Given the description of an element on the screen output the (x, y) to click on. 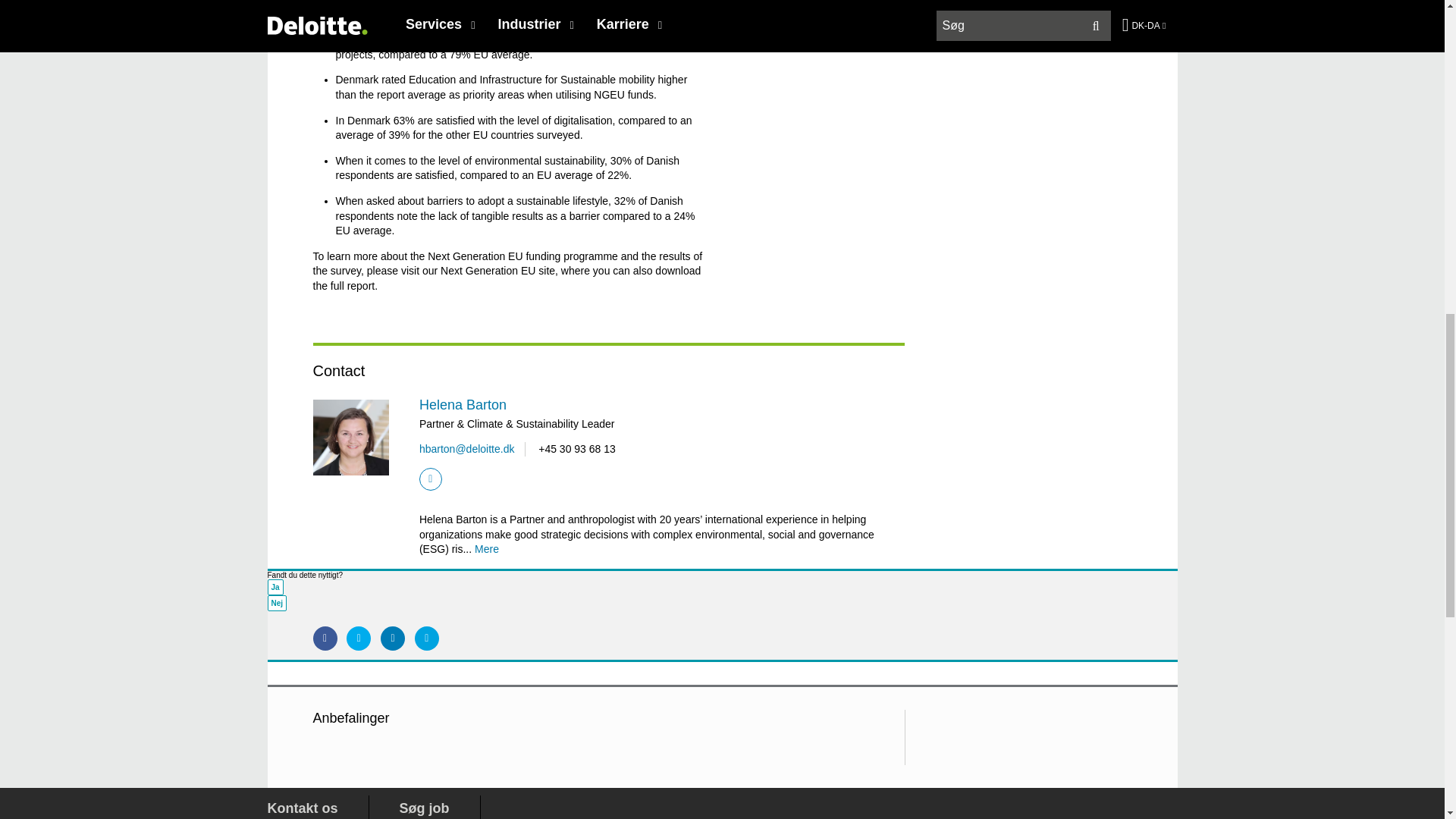
Share via Twitter (358, 638)
Share via Email (426, 638)
Share via LinkedIn (392, 638)
Share via Facebook (324, 638)
LinkedIn (430, 478)
